Given the description of an element on the screen output the (x, y) to click on. 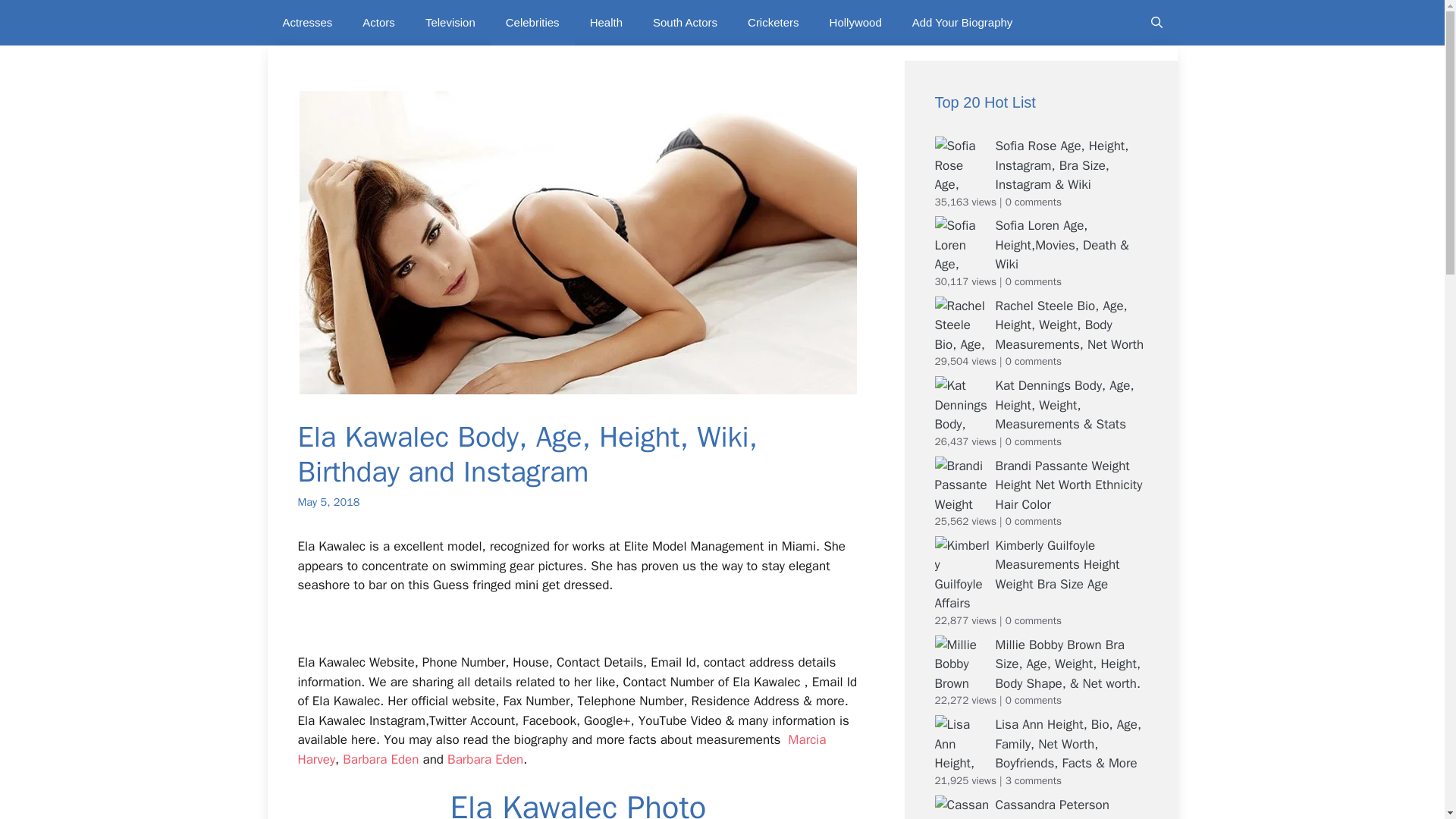
Brandi Passante Weight Height Net Worth Ethnicity Hair Color (1067, 484)
Actors (378, 22)
Barbara Eden (380, 759)
Actresses (306, 22)
Brandi Passante Weight Height Net Worth Ethnicity Hair Color (1067, 484)
Add Your Biography (961, 22)
Television (450, 22)
Hollywood (854, 22)
South Actors (684, 22)
Cricketers (772, 22)
Barbara Eden (484, 759)
Health (606, 22)
Marcia Harvey (561, 749)
Celebrities (532, 22)
